Given the description of an element on the screen output the (x, y) to click on. 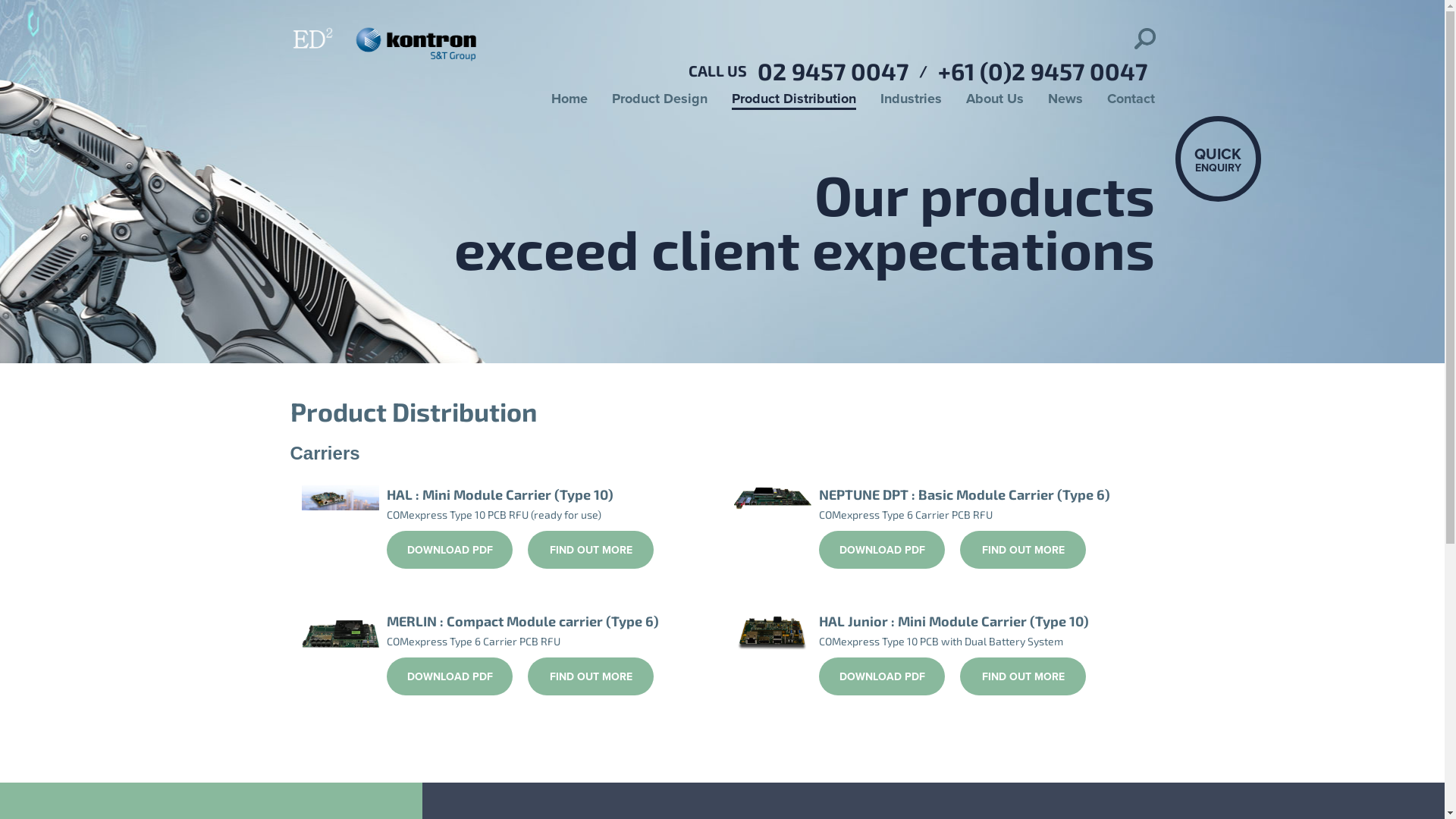
FIND OUT MORE Element type: text (1022, 676)
Contact Element type: text (1130, 99)
Home Element type: text (568, 99)
DOWNLOAD PDF Element type: text (881, 676)
About Us Element type: text (994, 99)
FIND OUT MORE Element type: text (590, 676)
+61 (0)2 9457 0047 Element type: text (1045, 68)
News Element type: text (1065, 99)
Search Element type: text (26, 12)
DOWNLOAD PDF Element type: text (449, 549)
DOWNLOAD PDF Element type: text (449, 676)
Product Design Element type: text (658, 99)
02 9457 0047 Element type: text (835, 68)
FIND OUT MORE Element type: text (1022, 549)
QUICK
ENQUIRY Element type: text (1218, 158)
DOWNLOAD PDF Element type: text (881, 549)
Industries Element type: text (910, 99)
Product Distribution Element type: text (793, 99)
FIND OUT MORE Element type: text (590, 549)
